Given the description of an element on the screen output the (x, y) to click on. 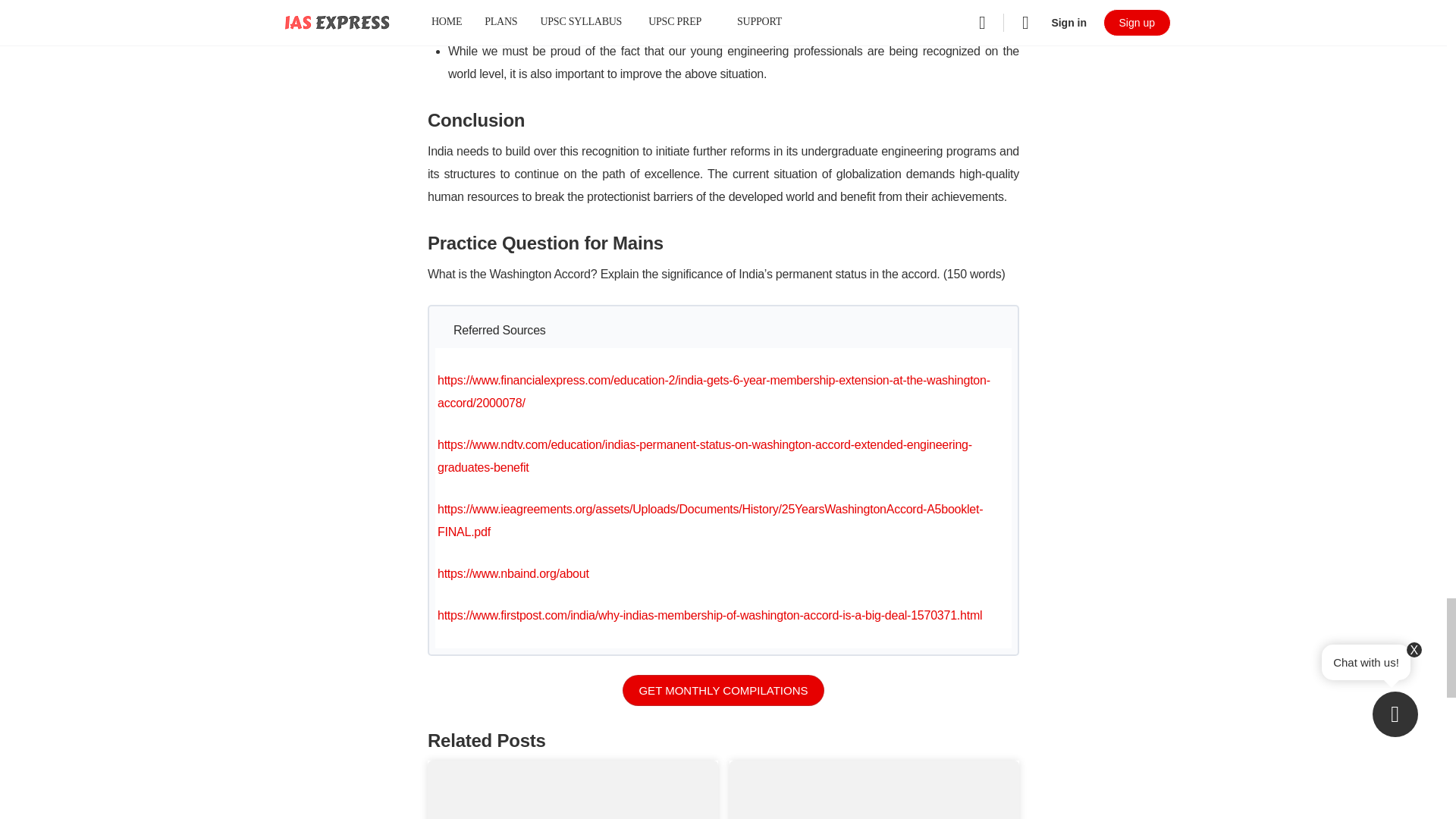
Expand (726, 330)
